Given the description of an element on the screen output the (x, y) to click on. 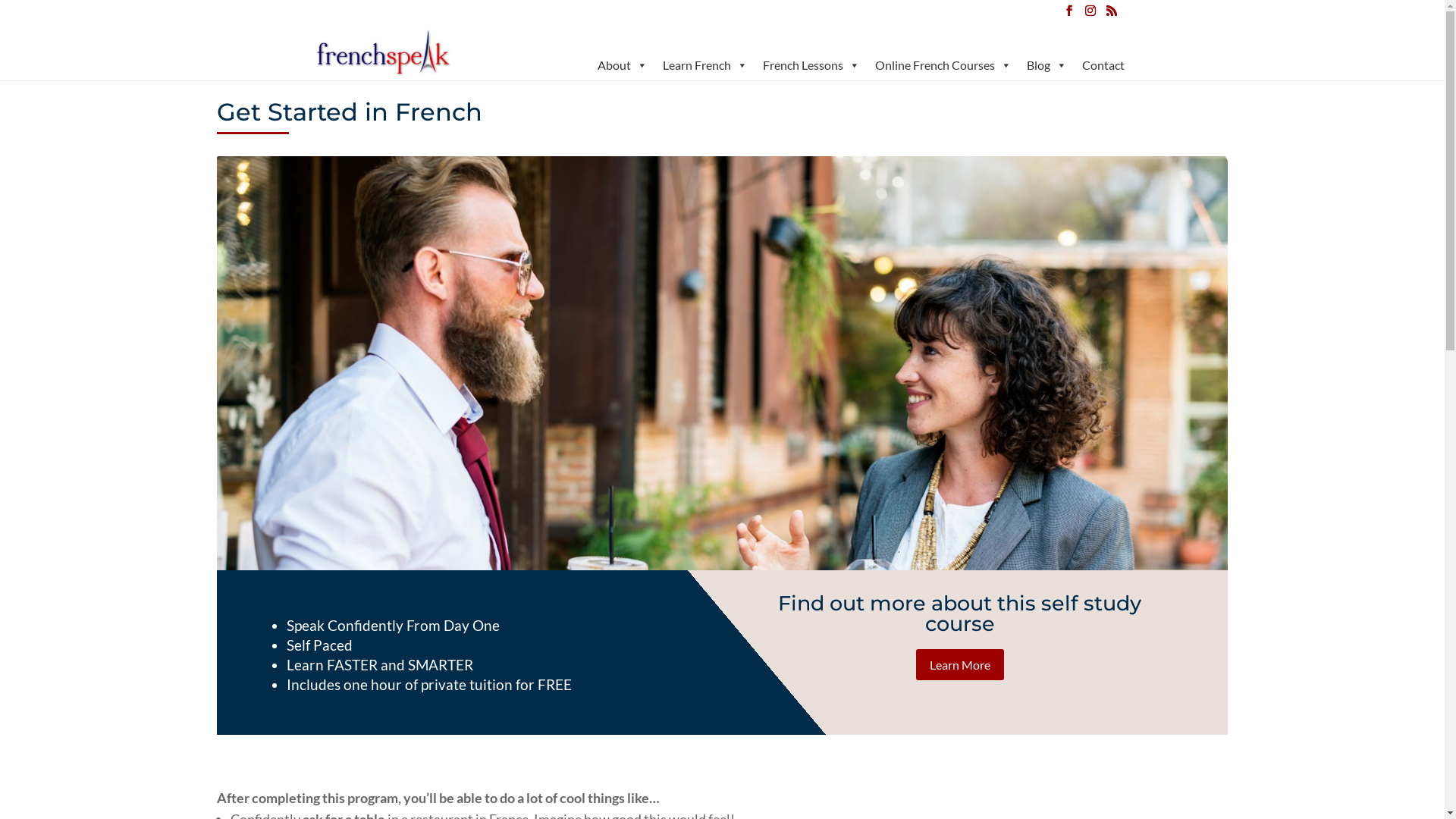
Contact Element type: text (1102, 65)
Blog Element type: text (1046, 65)
About Element type: text (622, 65)
French Lessons Element type: text (811, 65)
Learn More Element type: text (960, 664)
Online French Courses Element type: text (943, 65)
Learn French Element type: text (705, 65)
